Given the description of an element on the screen output the (x, y) to click on. 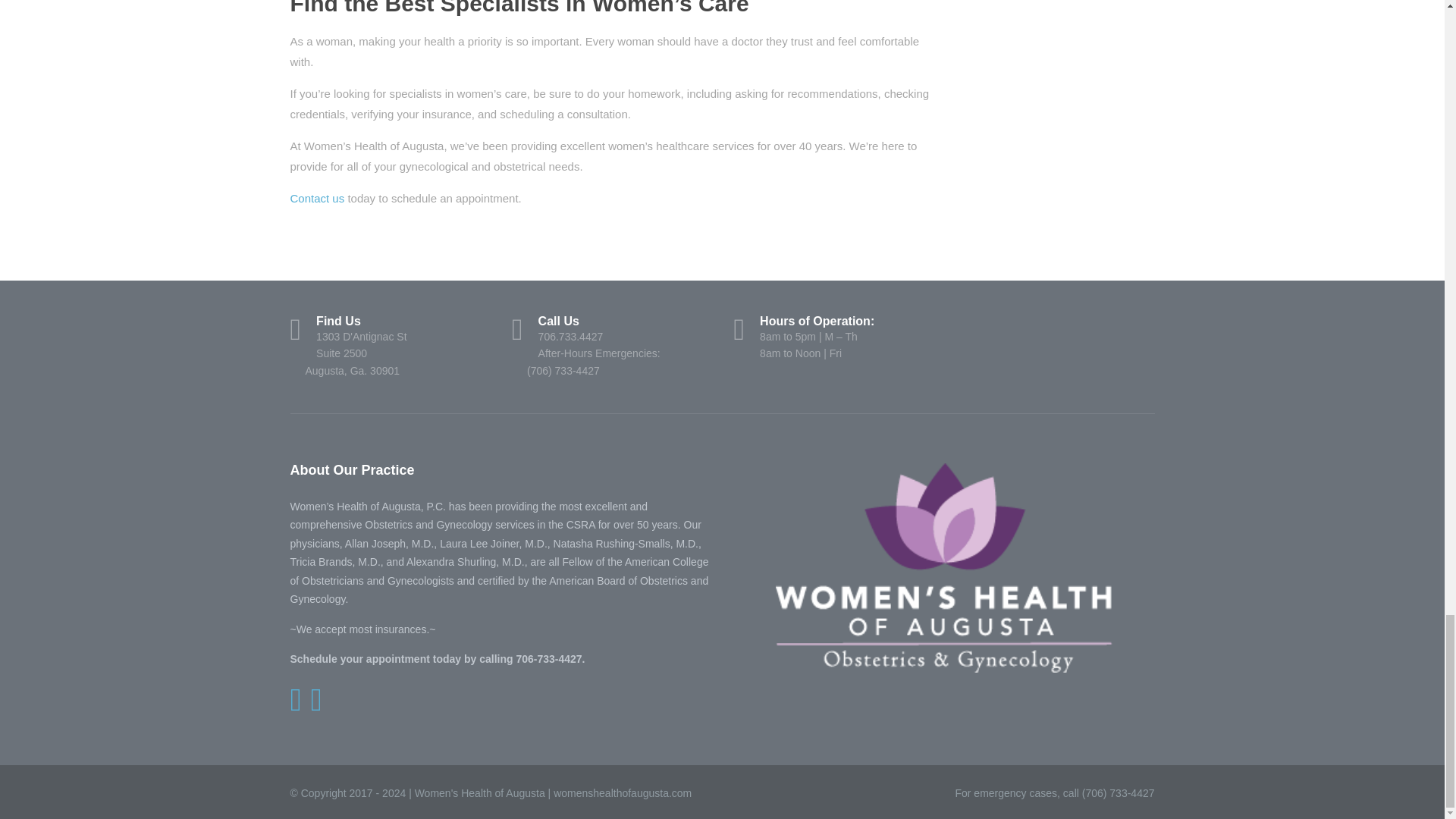
Contact us (316, 197)
